Given the description of an element on the screen output the (x, y) to click on. 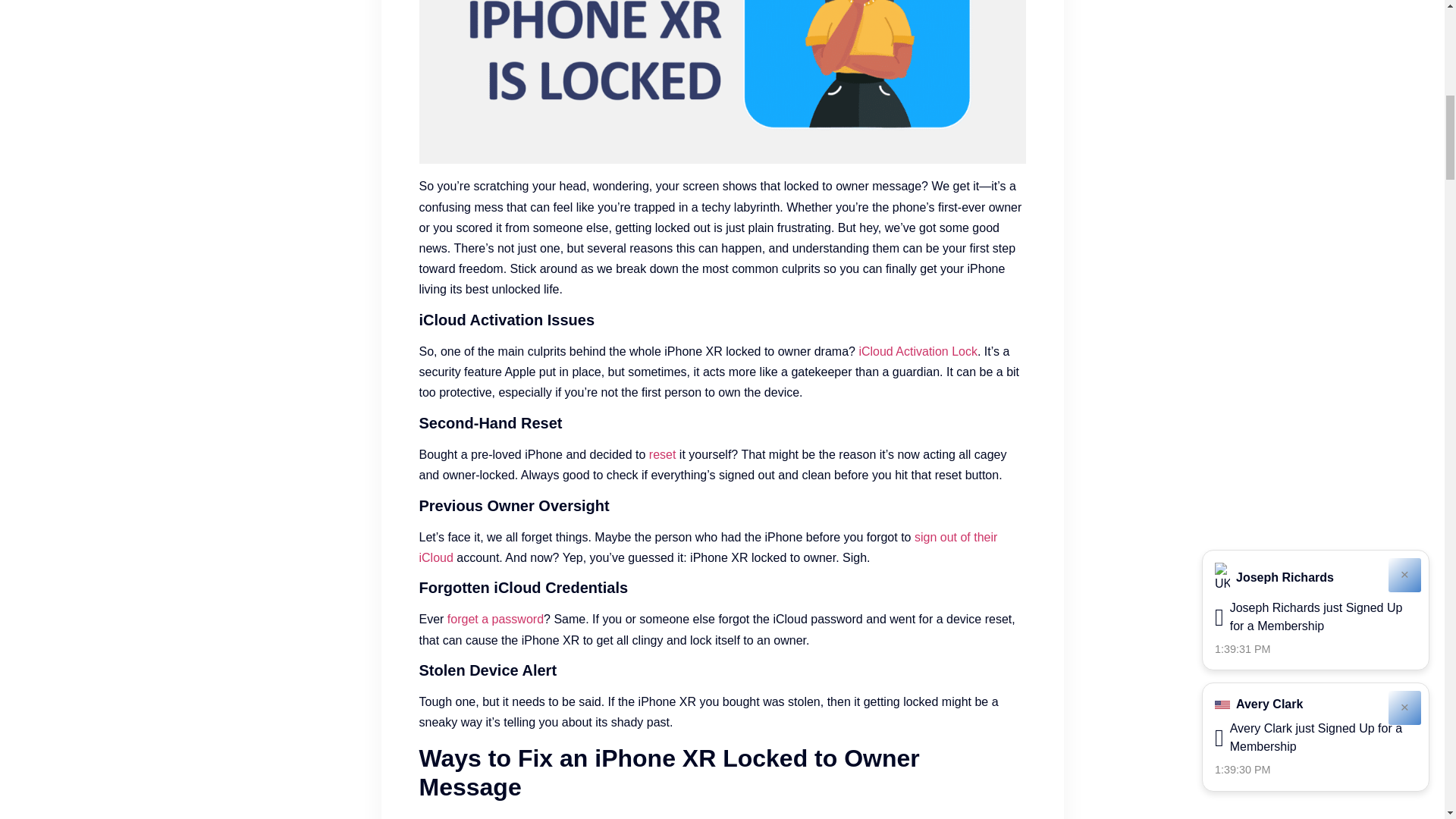
Fix iPhone XR Locked to Owner: iPhone XR Unlock 1 (722, 81)
